Given the description of an element on the screen output the (x, y) to click on. 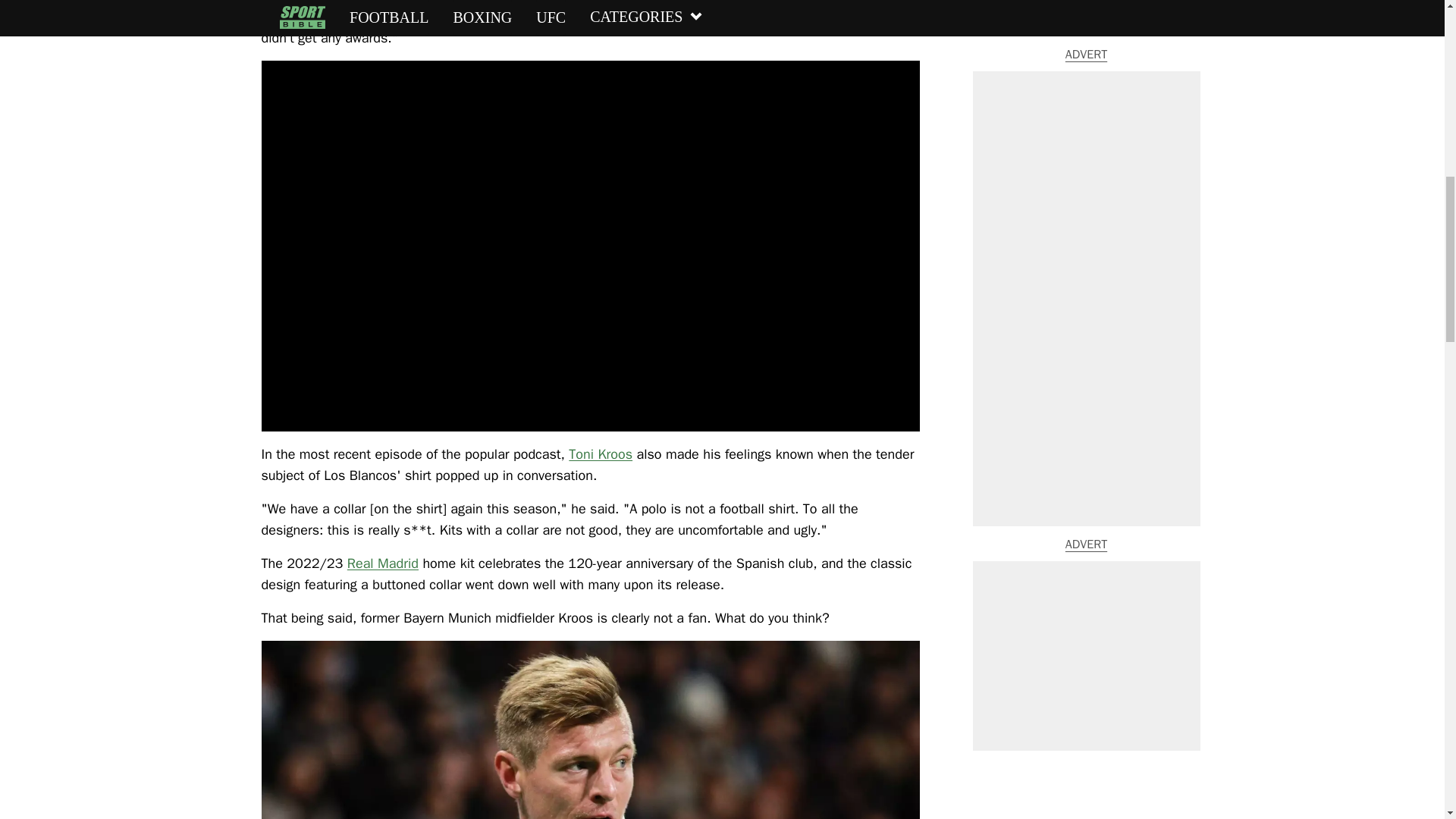
3rd party ad content (1085, 78)
